Given the description of an element on the screen output the (x, y) to click on. 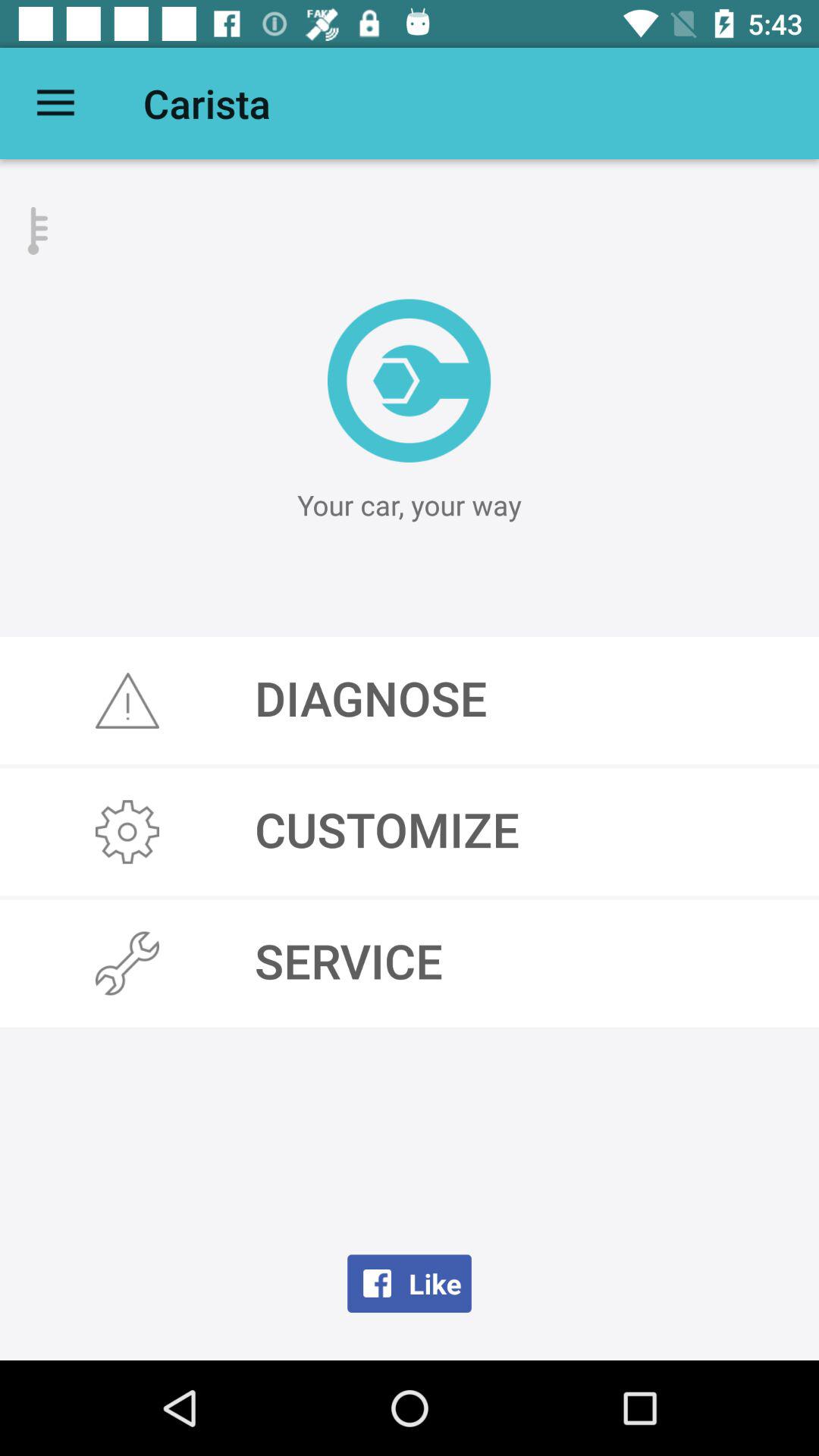
swipe to the like icon (409, 1283)
